Given the description of an element on the screen output the (x, y) to click on. 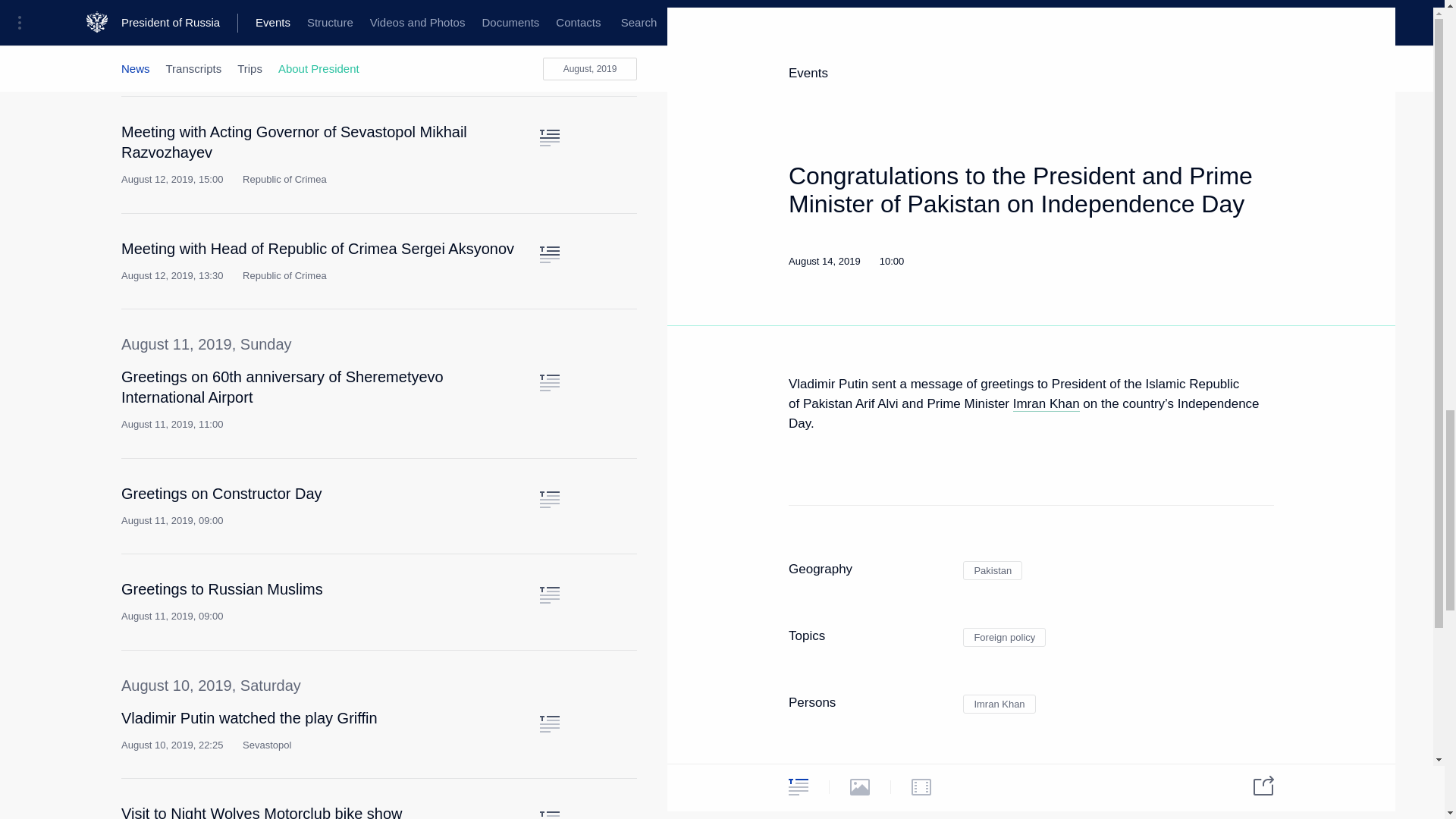
Text of the article (549, 42)
Text of the article (549, 254)
Text of the article (549, 137)
